Given the description of an element on the screen output the (x, y) to click on. 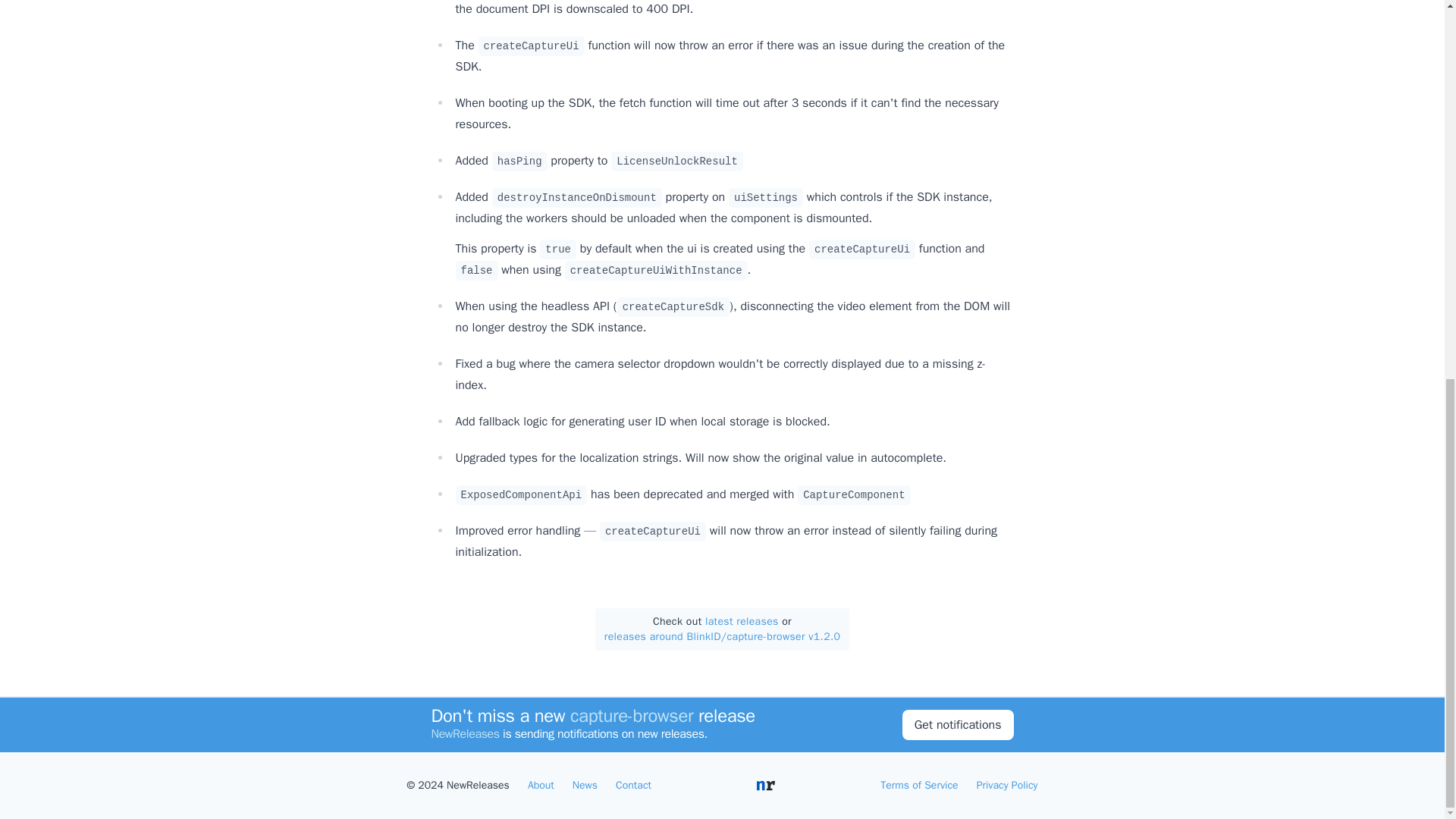
Get notifications (957, 87)
Contact (632, 784)
Privacy Policy (1007, 784)
Terms of Service (919, 784)
latest releases (741, 621)
News (584, 784)
About (540, 784)
